Given the description of an element on the screen output the (x, y) to click on. 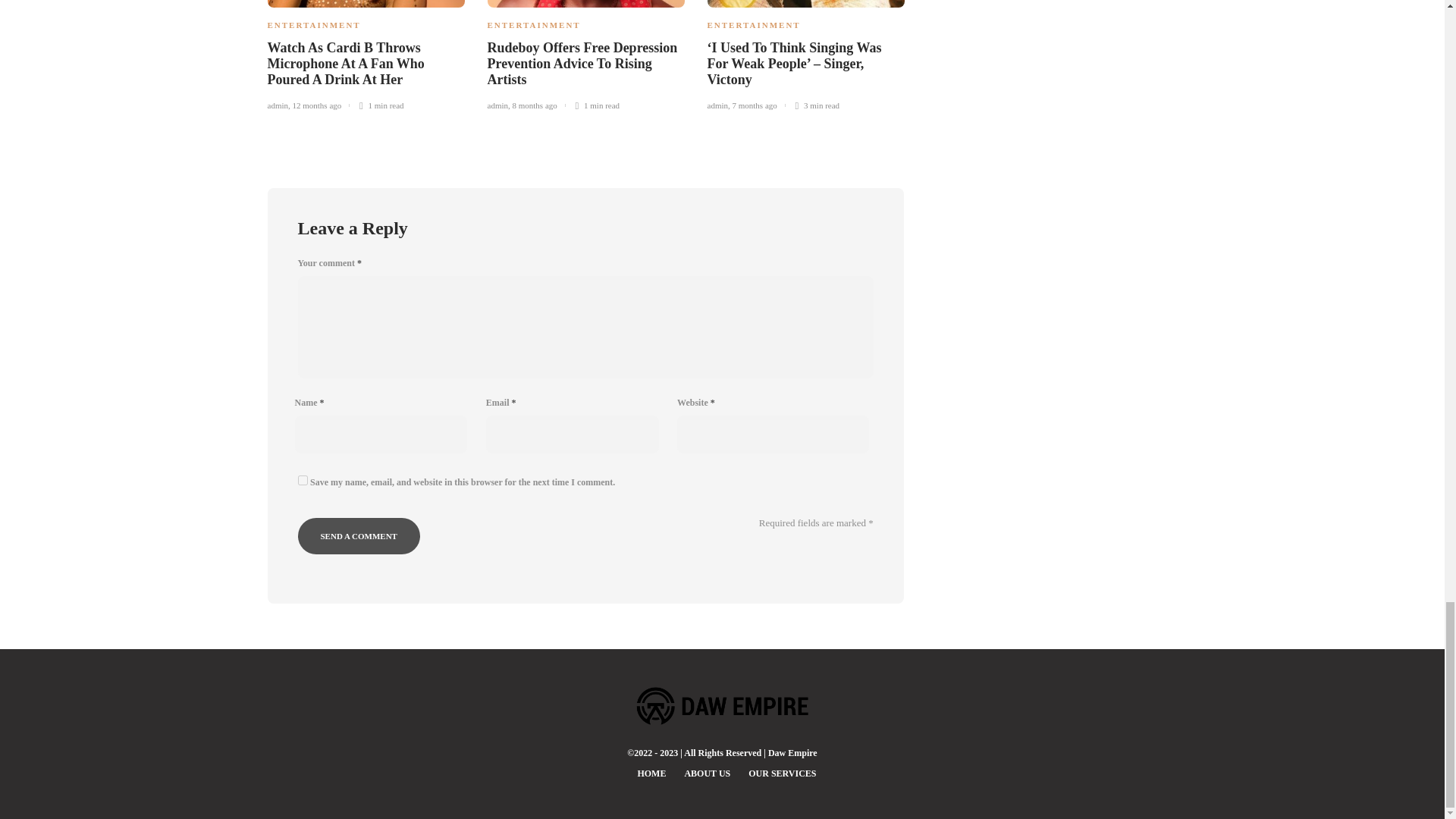
yes (302, 480)
Send a comment (358, 535)
